Given the description of an element on the screen output the (x, y) to click on. 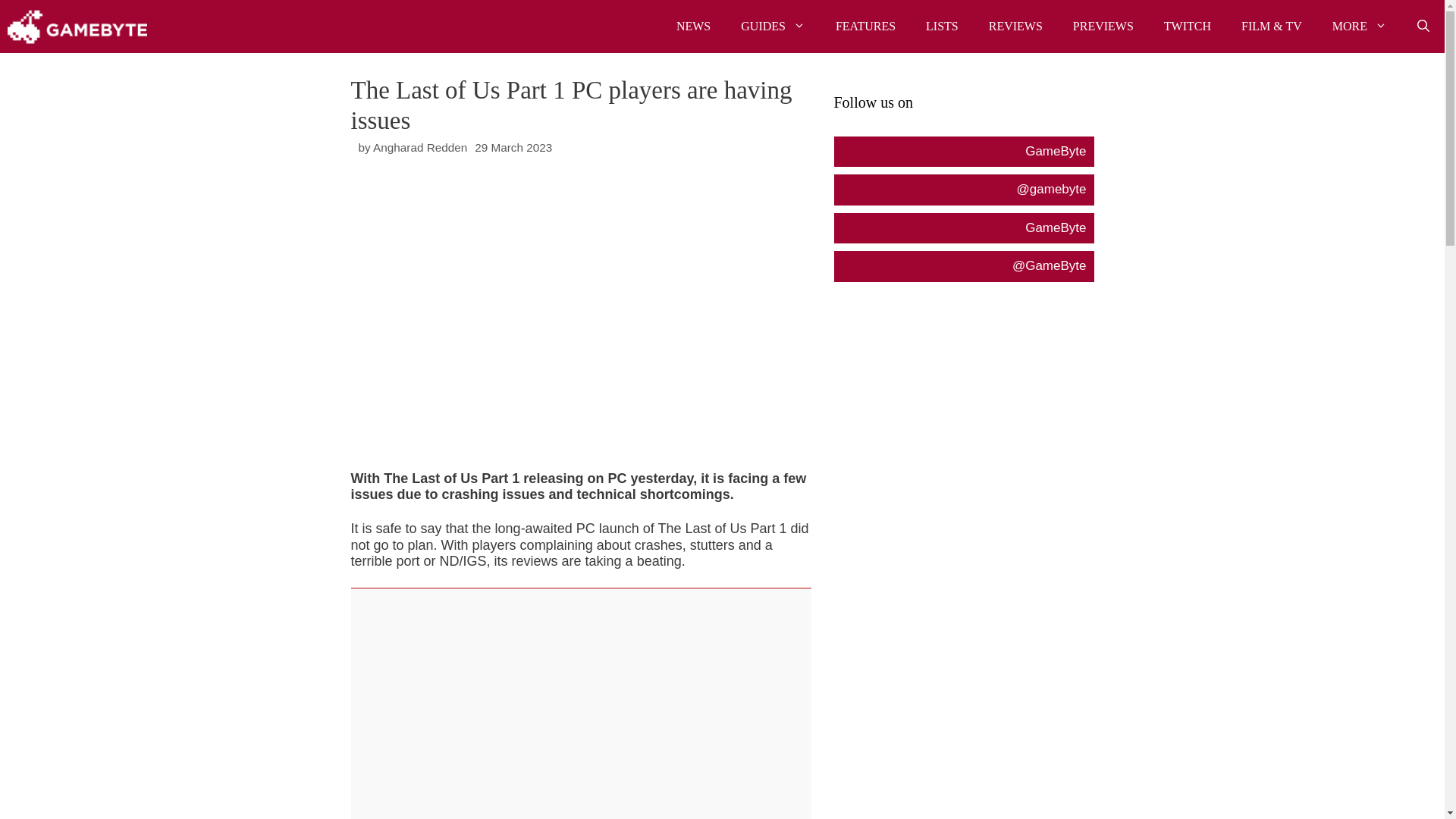
Gamebyte Youtube (963, 227)
View all posts by Angharad Redden (419, 146)
GUIDES (773, 26)
Gamebyte Facebook (963, 151)
GameByte (77, 26)
Gamebyte Instagram (963, 189)
NEWS (693, 26)
Gamebyte Twitter (963, 265)
